Given the description of an element on the screen output the (x, y) to click on. 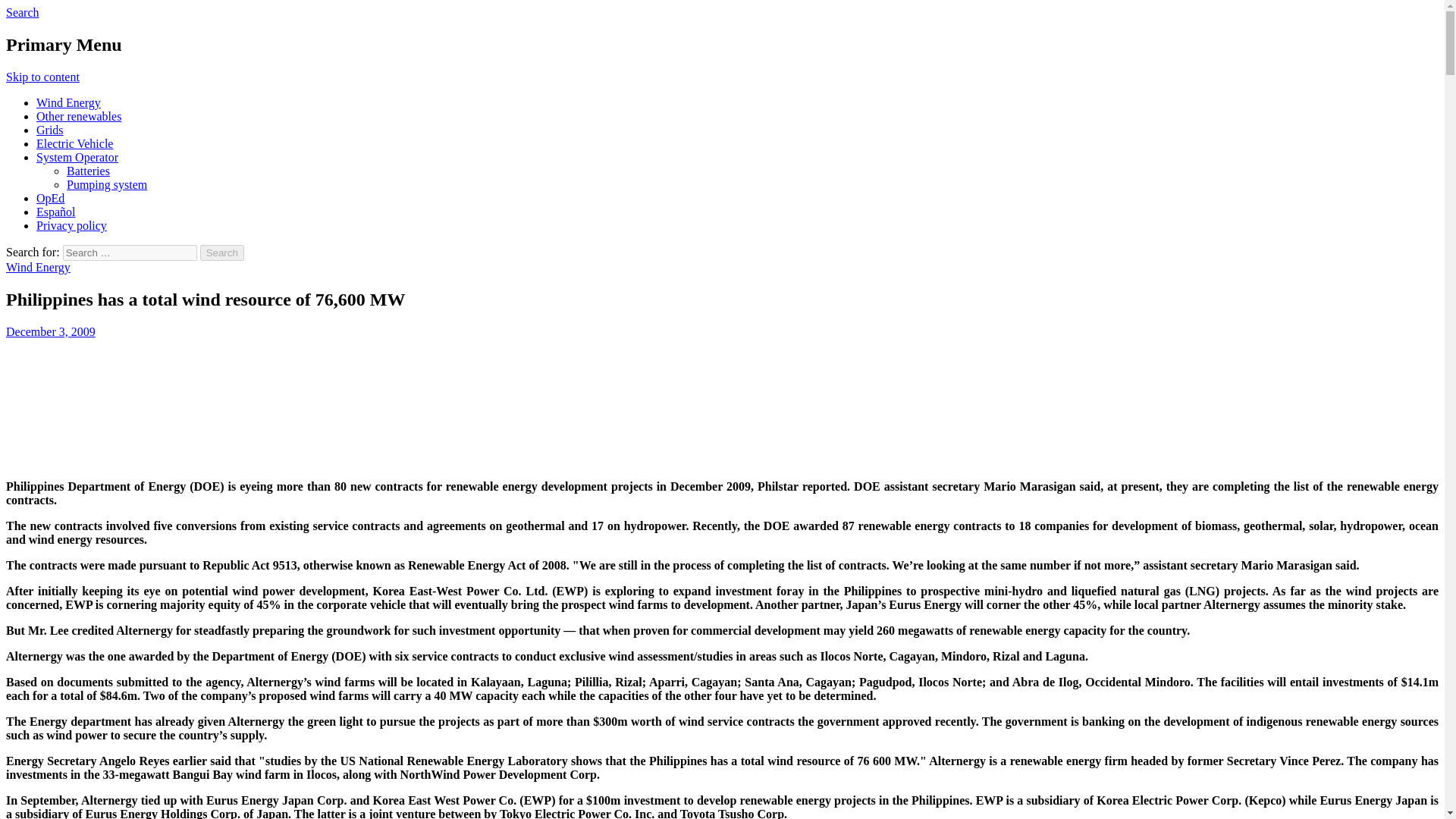
Grids (50, 129)
Pumping system (106, 184)
December 3, 2009 (50, 331)
Search (222, 252)
Wind Energy (68, 102)
Other renewables (78, 115)
Privacy policy (71, 225)
Electric Vehicle (74, 143)
Batteries (88, 170)
Search (22, 11)
Wind Energy (37, 267)
OpEd (50, 197)
System Operator (76, 156)
Search (222, 252)
Search (222, 252)
